Given the description of an element on the screen output the (x, y) to click on. 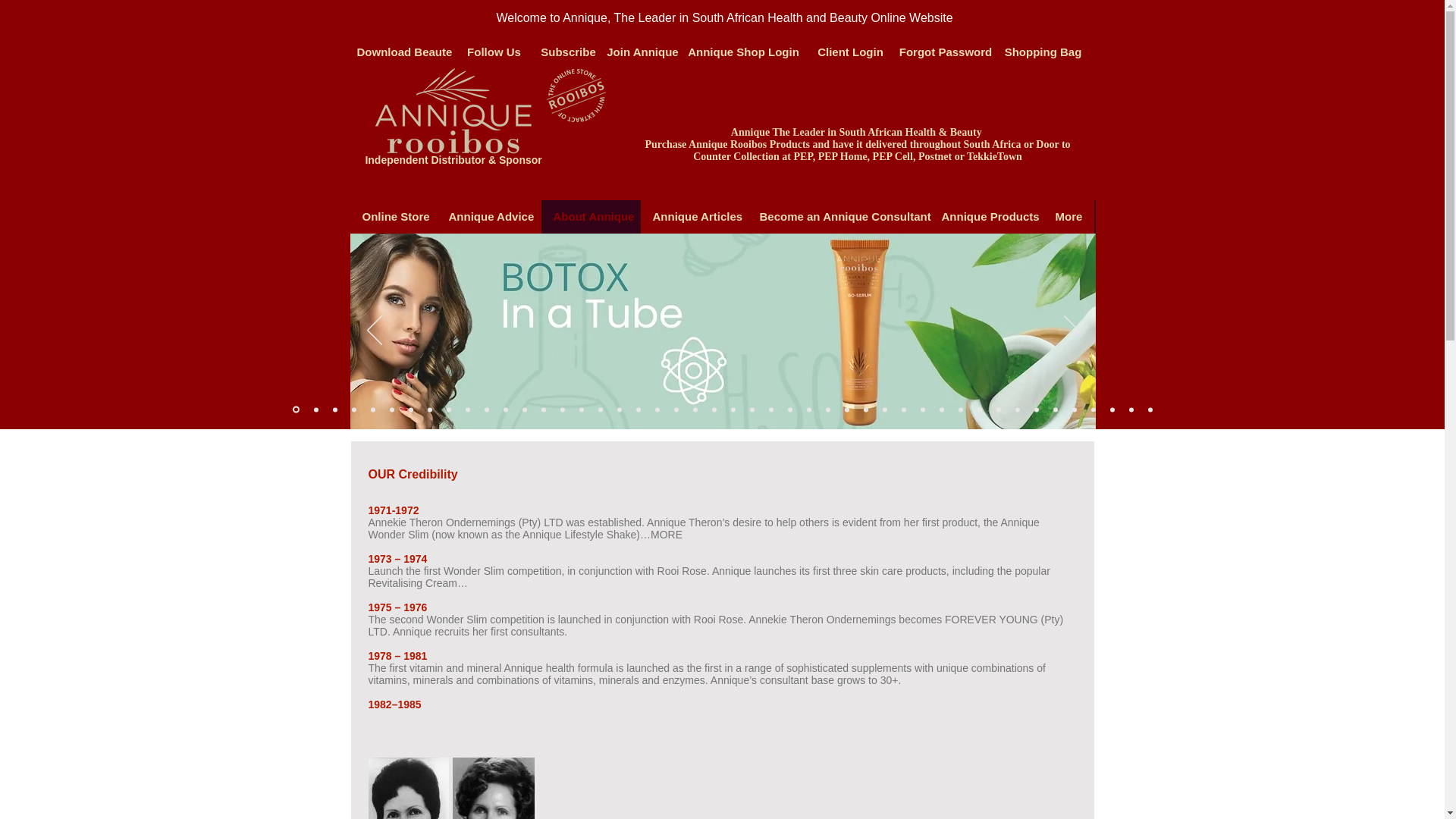
Shopping Bag (1042, 51)
Client Login (849, 51)
Forgot Password (944, 51)
About Annique (590, 216)
Annique Shop Login (743, 51)
Download Beaute (403, 51)
Online Store (392, 216)
Follow Us (494, 51)
Join Annique (642, 51)
Annique Advice (488, 216)
